Given the description of an element on the screen output the (x, y) to click on. 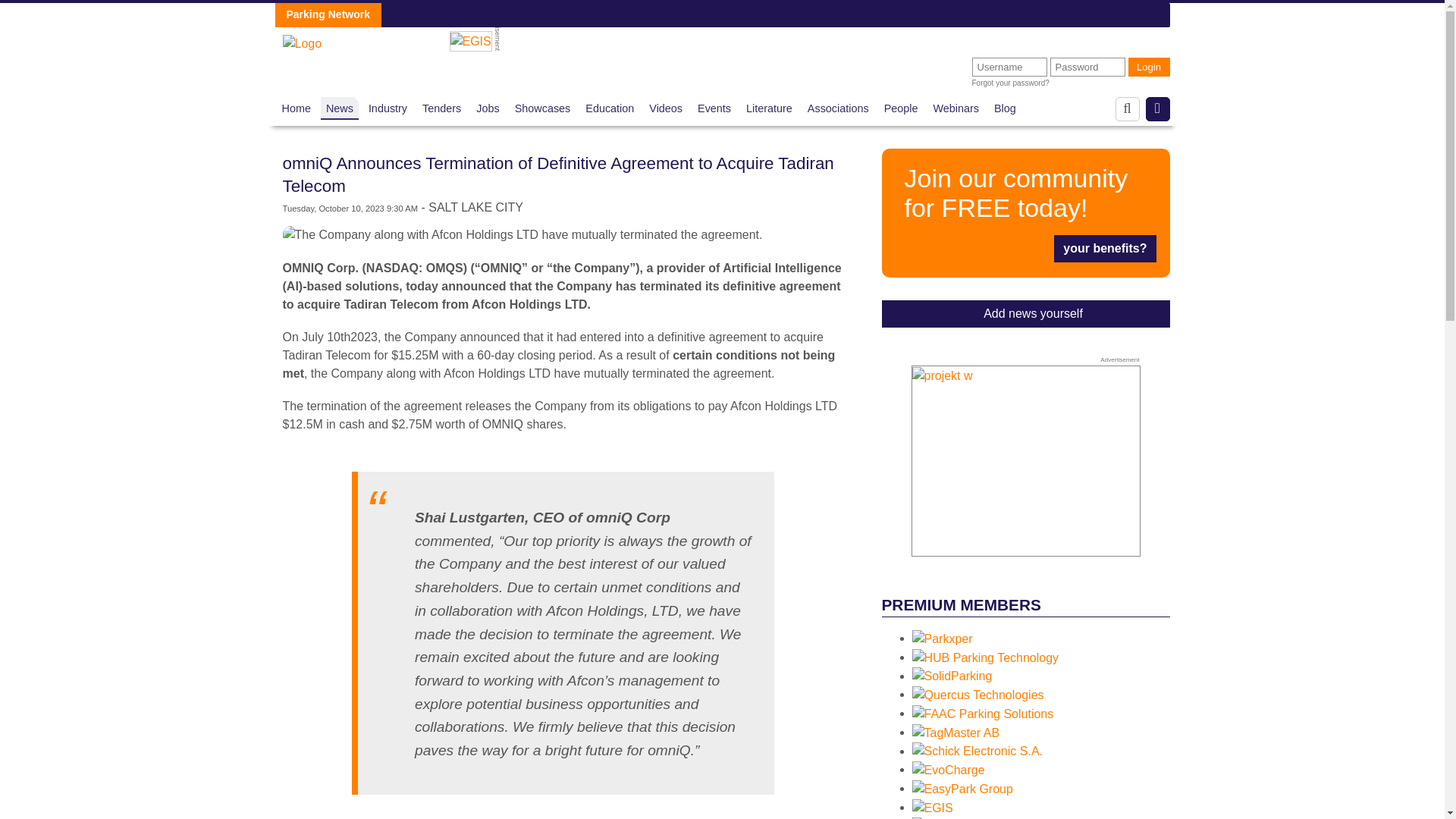
Associations (838, 108)
Education (609, 108)
Webinars (955, 108)
Videos (665, 108)
Literature (768, 108)
Industry (387, 108)
Home (296, 108)
Tenders (441, 108)
Parking Network (301, 38)
News (339, 108)
